Given the description of an element on the screen output the (x, y) to click on. 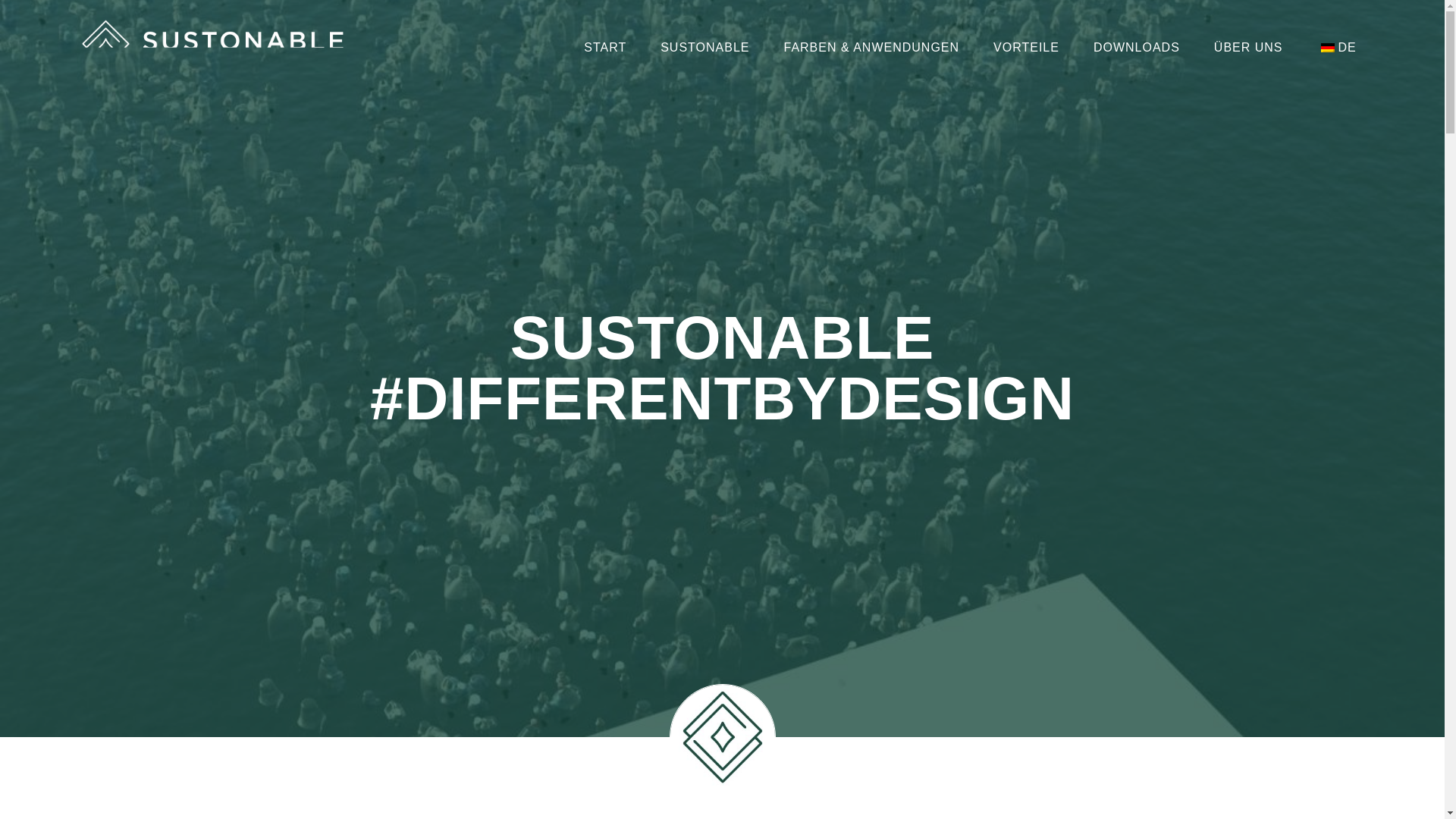
START (605, 47)
German (1327, 46)
DE (1336, 47)
VORTEILE (1026, 47)
SUSTONABLE (704, 47)
DOWNLOADS (1136, 47)
